Given the description of an element on the screen output the (x, y) to click on. 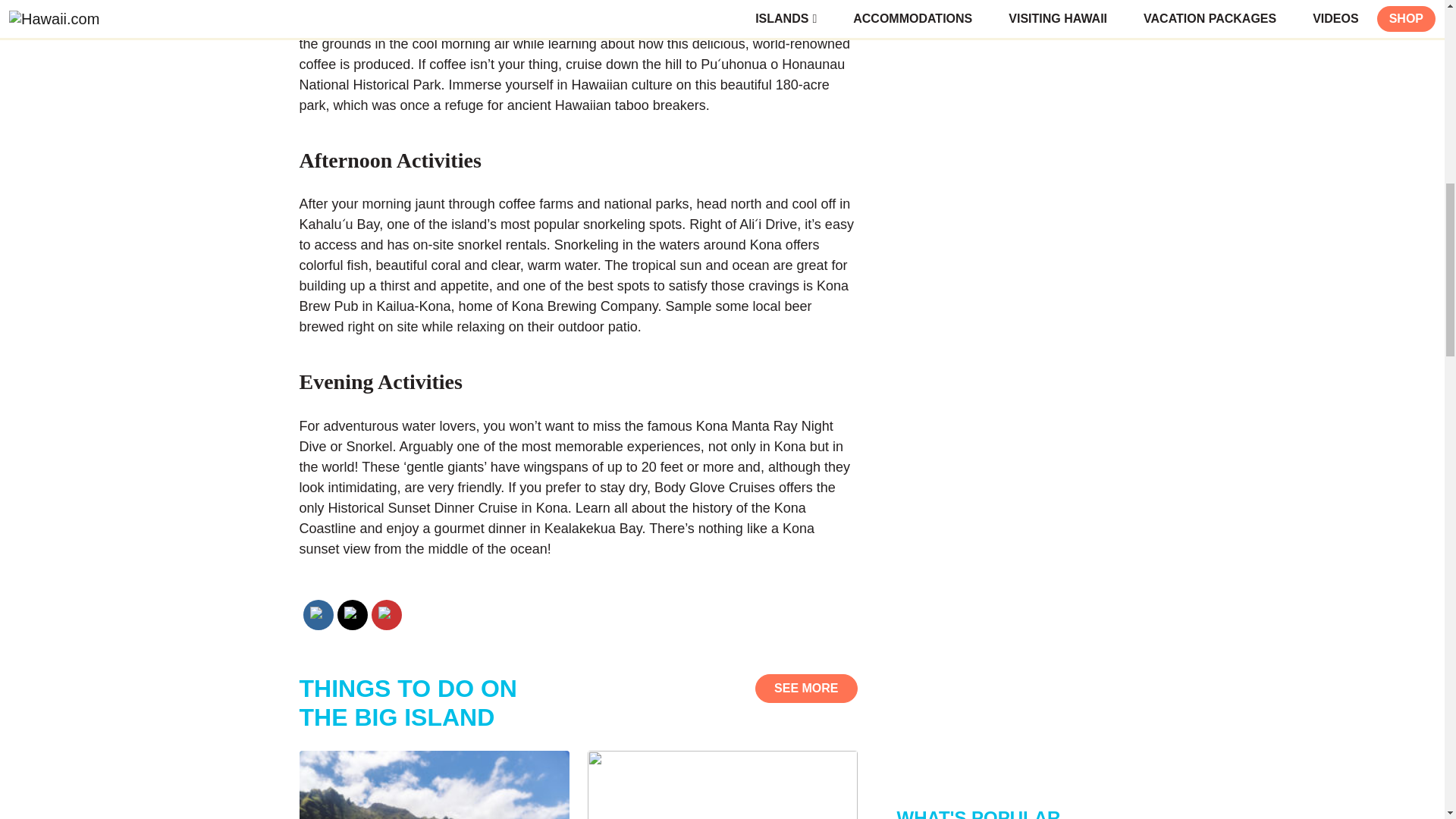
SEE MORE (806, 688)
